Given the description of an element on the screen output the (x, y) to click on. 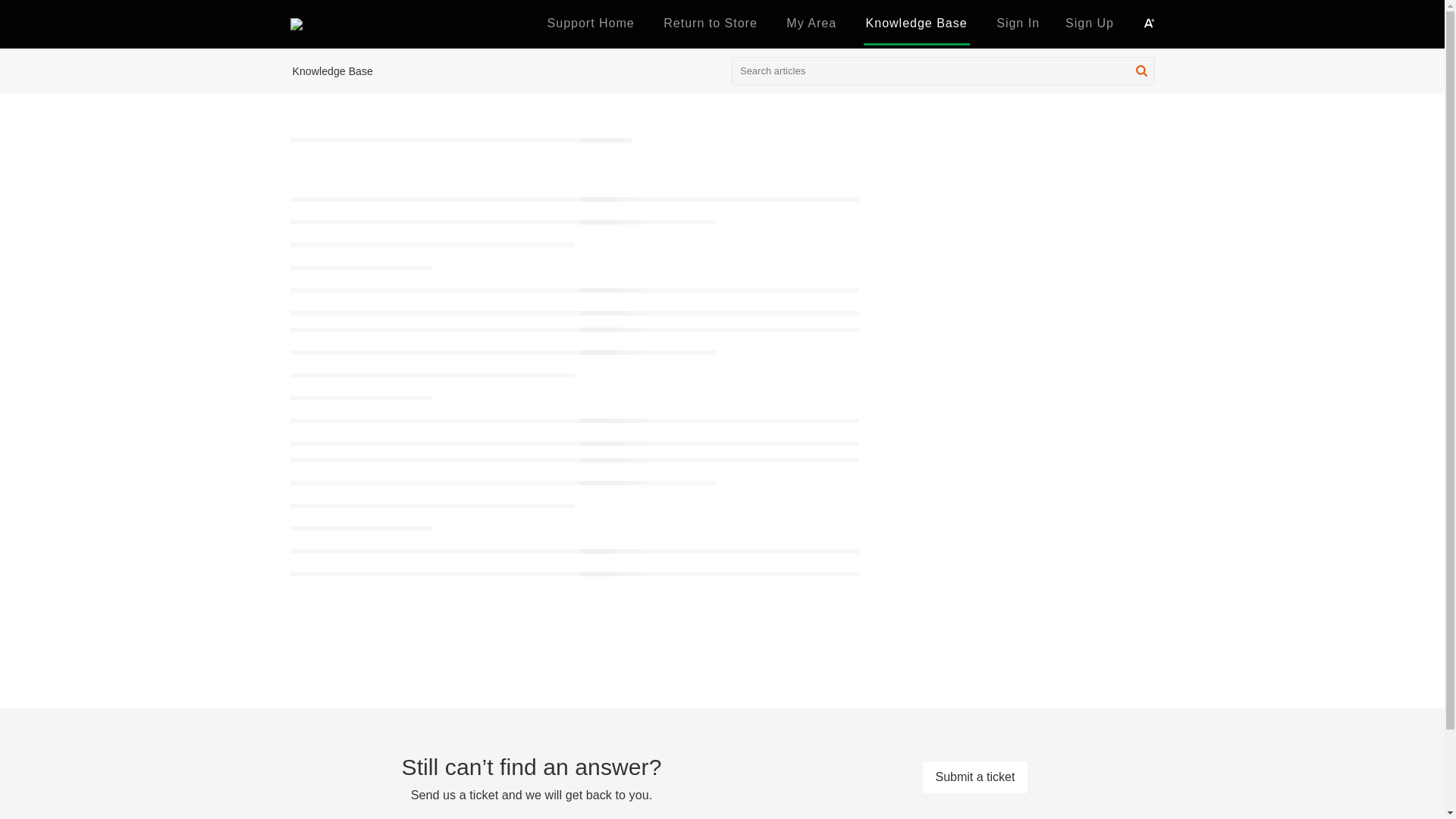
My Area (810, 22)
Submit a ticket (974, 776)
Knowledge Base (332, 70)
Home (590, 22)
My Area (810, 22)
Sign In (1017, 22)
Knowledge Base (917, 22)
Sign Up (1089, 24)
Sign In (1017, 24)
Knowledge Base (917, 22)
Return to Store (710, 22)
Submit a ticket (974, 777)
Return to Store (710, 22)
Sign Up (1089, 22)
Support Home (590, 22)
